Given the description of an element on the screen output the (x, y) to click on. 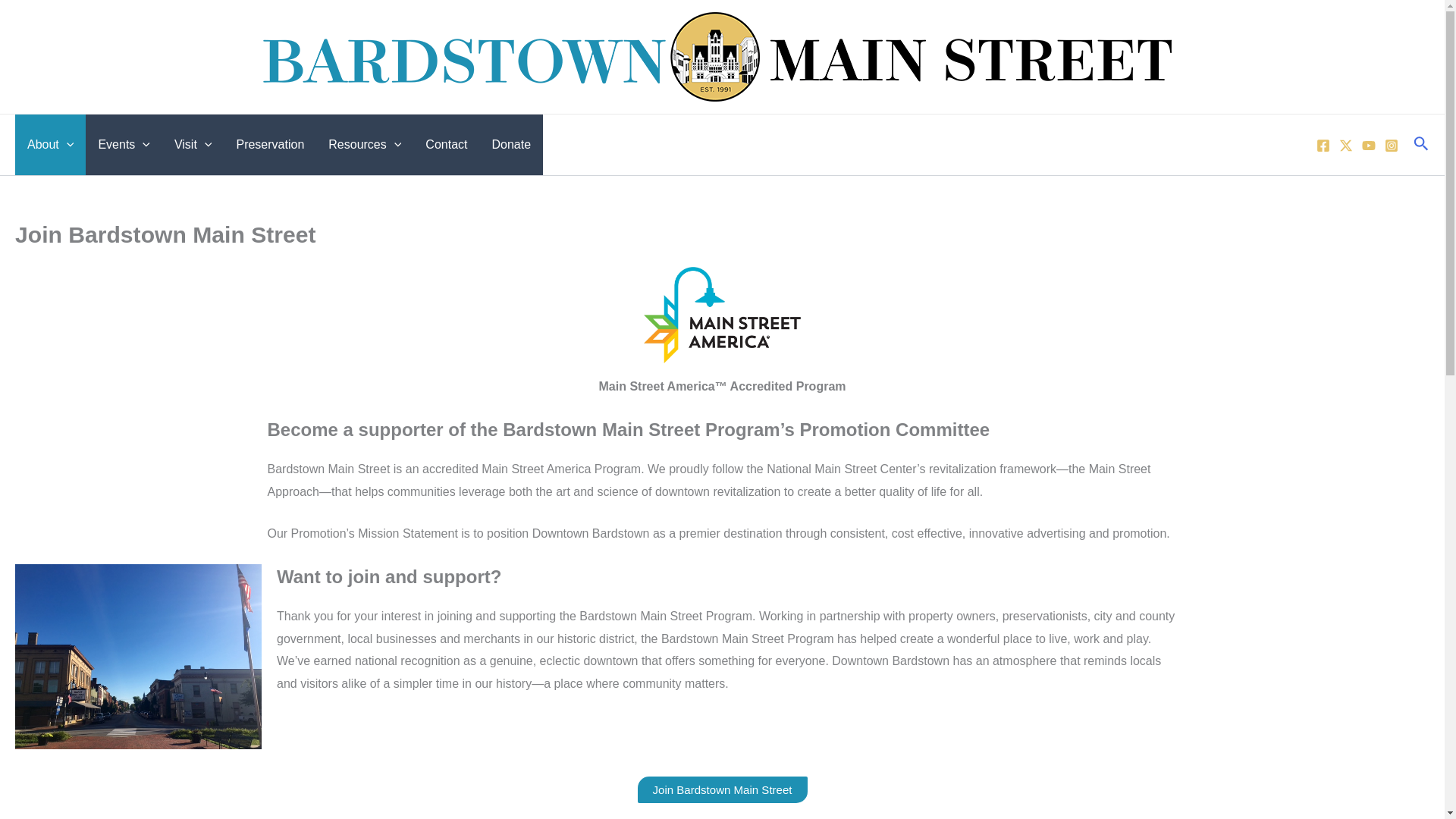
Visit (192, 144)
Preservation (269, 144)
About (49, 144)
Resources (364, 144)
Contact (446, 144)
Donate (511, 144)
Events (123, 144)
